Given the description of an element on the screen output the (x, y) to click on. 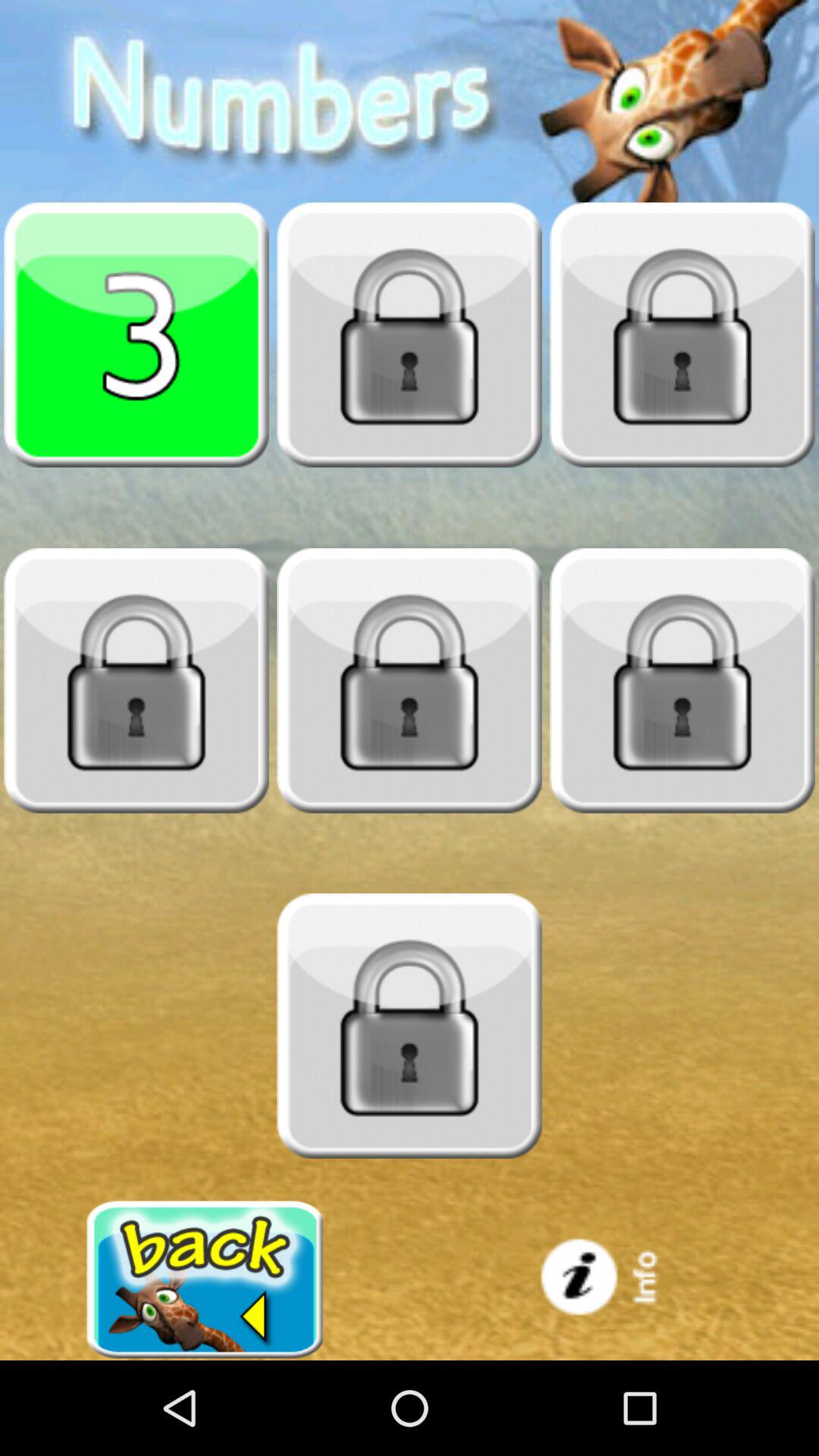
locked (409, 1025)
